Given the description of an element on the screen output the (x, y) to click on. 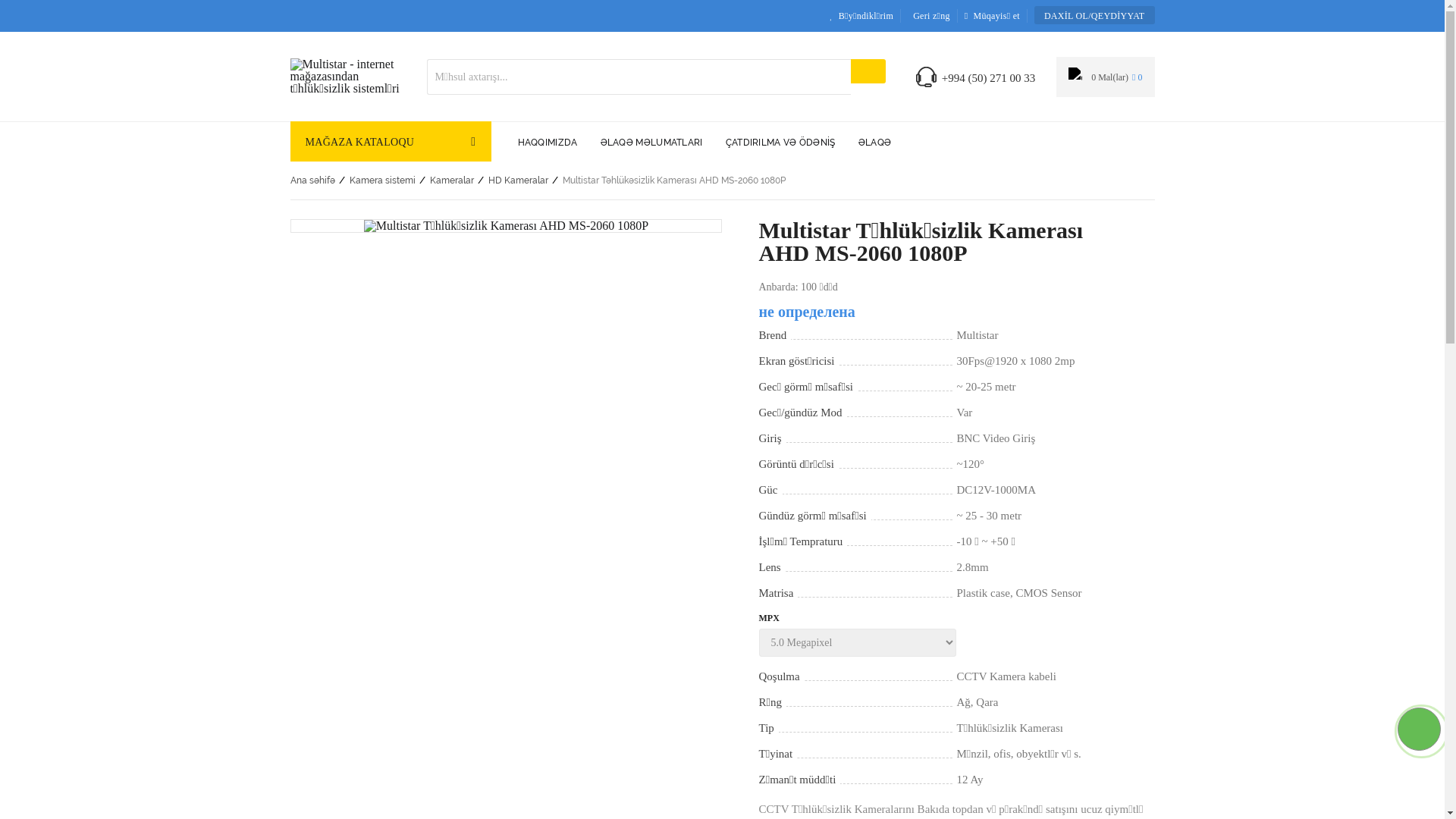
HD Kameralar Element type: text (518, 180)
HAQQIMIZDA Element type: text (547, 141)
Kameralar Element type: text (451, 180)
DAXIL OL/QEYDIYYAT Element type: text (1094, 15)
+994 (50) 271 00 33 Element type: text (988, 78)
Kamera sistemi Element type: text (381, 180)
